Given the description of an element on the screen output the (x, y) to click on. 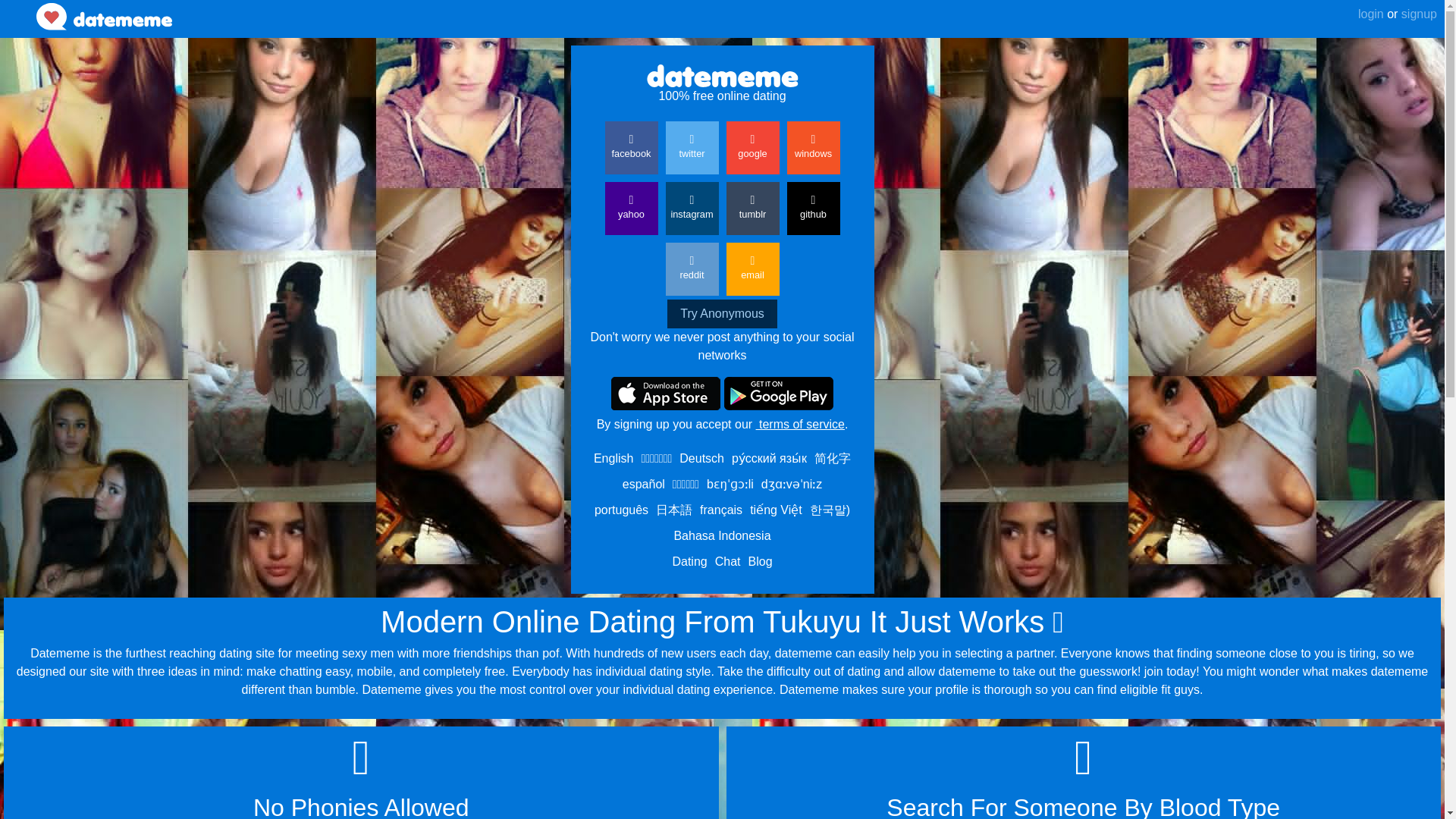
 signup (1417, 14)
Chat (727, 561)
Deutsch (701, 458)
tumblr (752, 208)
Blog (759, 561)
google (752, 147)
home (103, 16)
facebook (631, 147)
windows (813, 147)
github (813, 208)
twitter (692, 147)
yahoo (631, 208)
Try Anonymous (721, 313)
 terms of service (799, 423)
Bahasa Indonesia (721, 535)
